Given the description of an element on the screen output the (x, y) to click on. 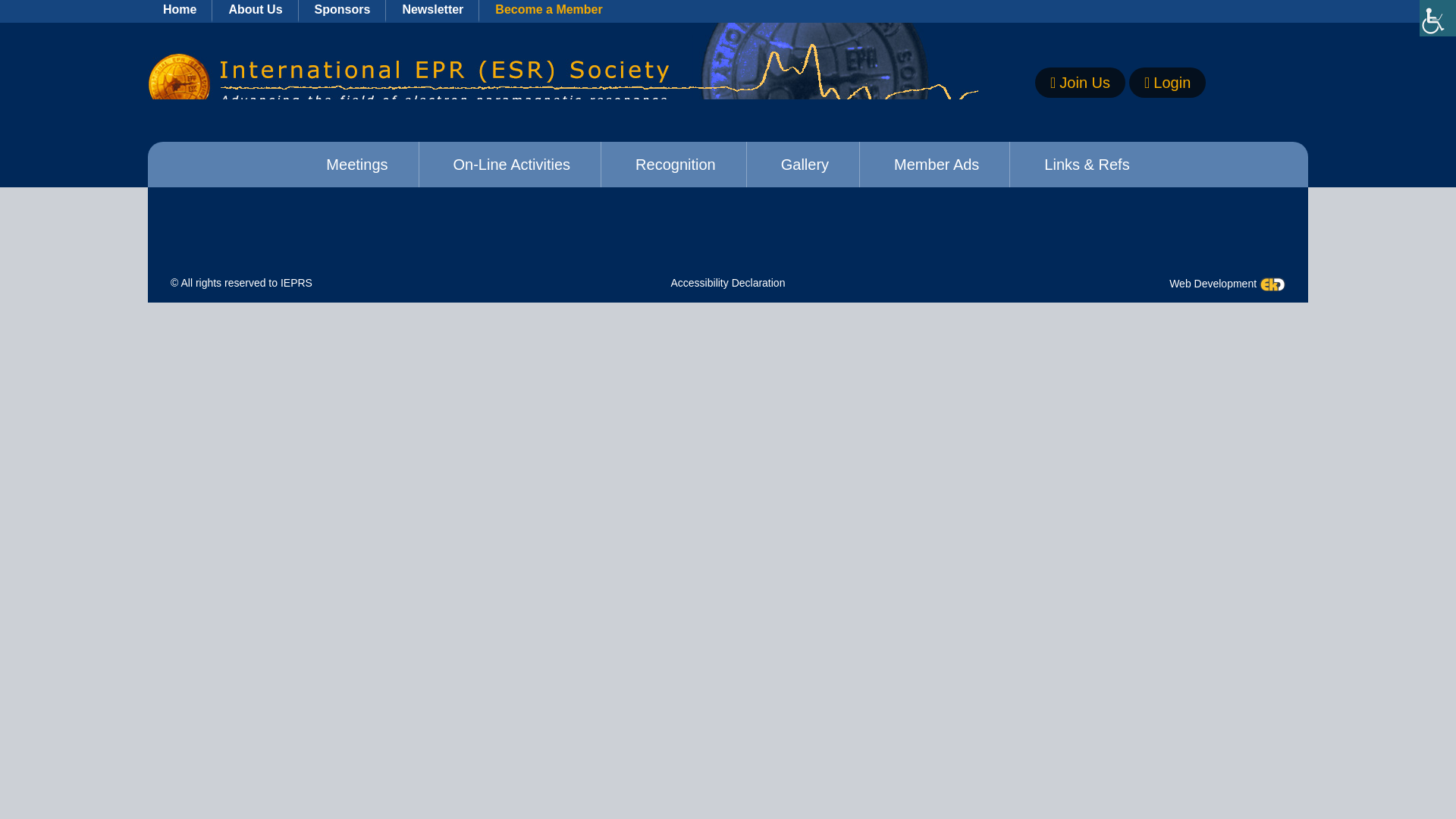
Login (1167, 81)
Newsletter (433, 11)
Sponsors (343, 11)
Home (180, 11)
Join Us (1080, 81)
Become a Member (548, 11)
About Us (255, 11)
Meetings (357, 164)
On-Line Activities (512, 164)
